Given the description of an element on the screen output the (x, y) to click on. 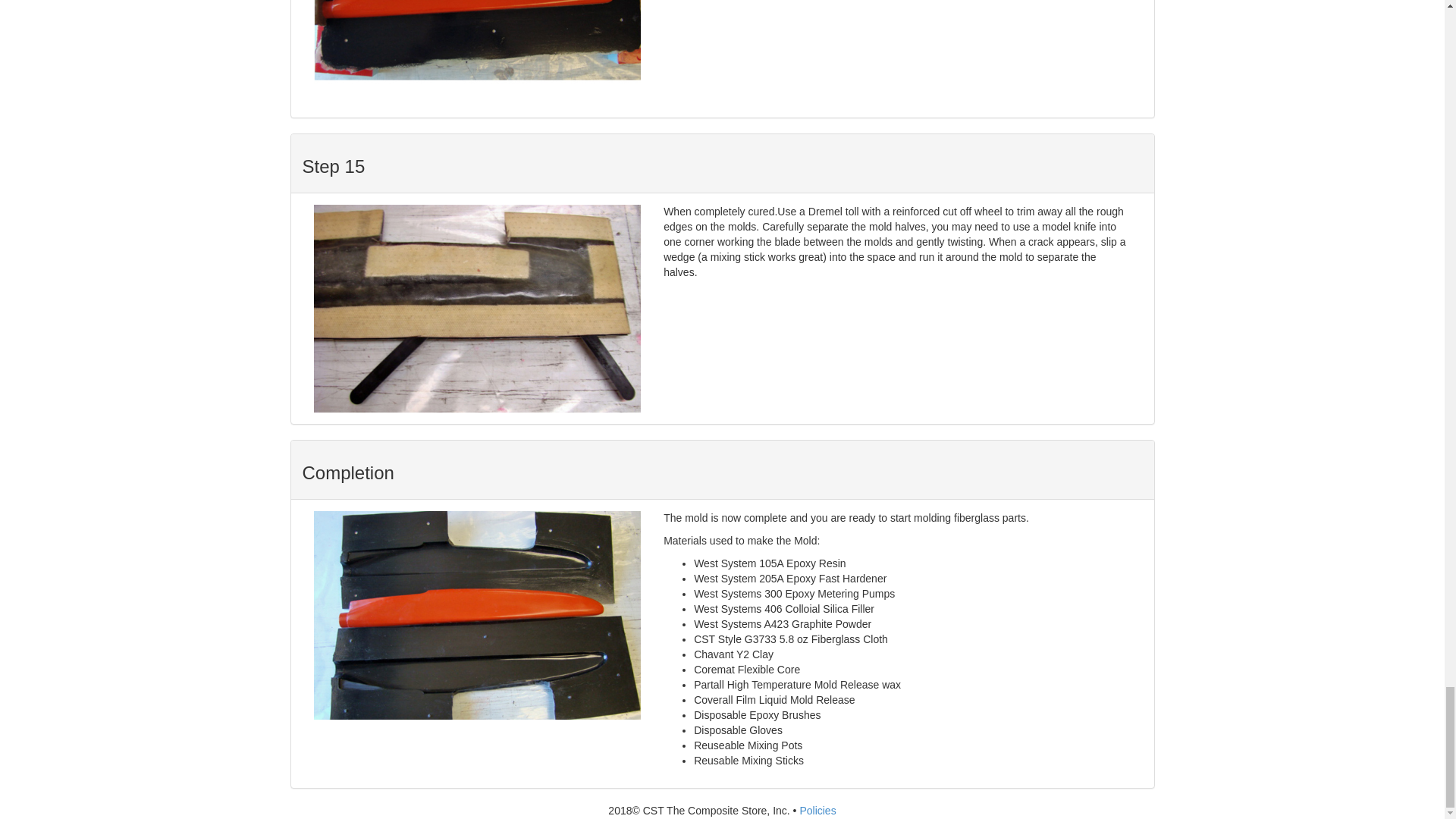
Policies (817, 810)
